Given the description of an element on the screen output the (x, y) to click on. 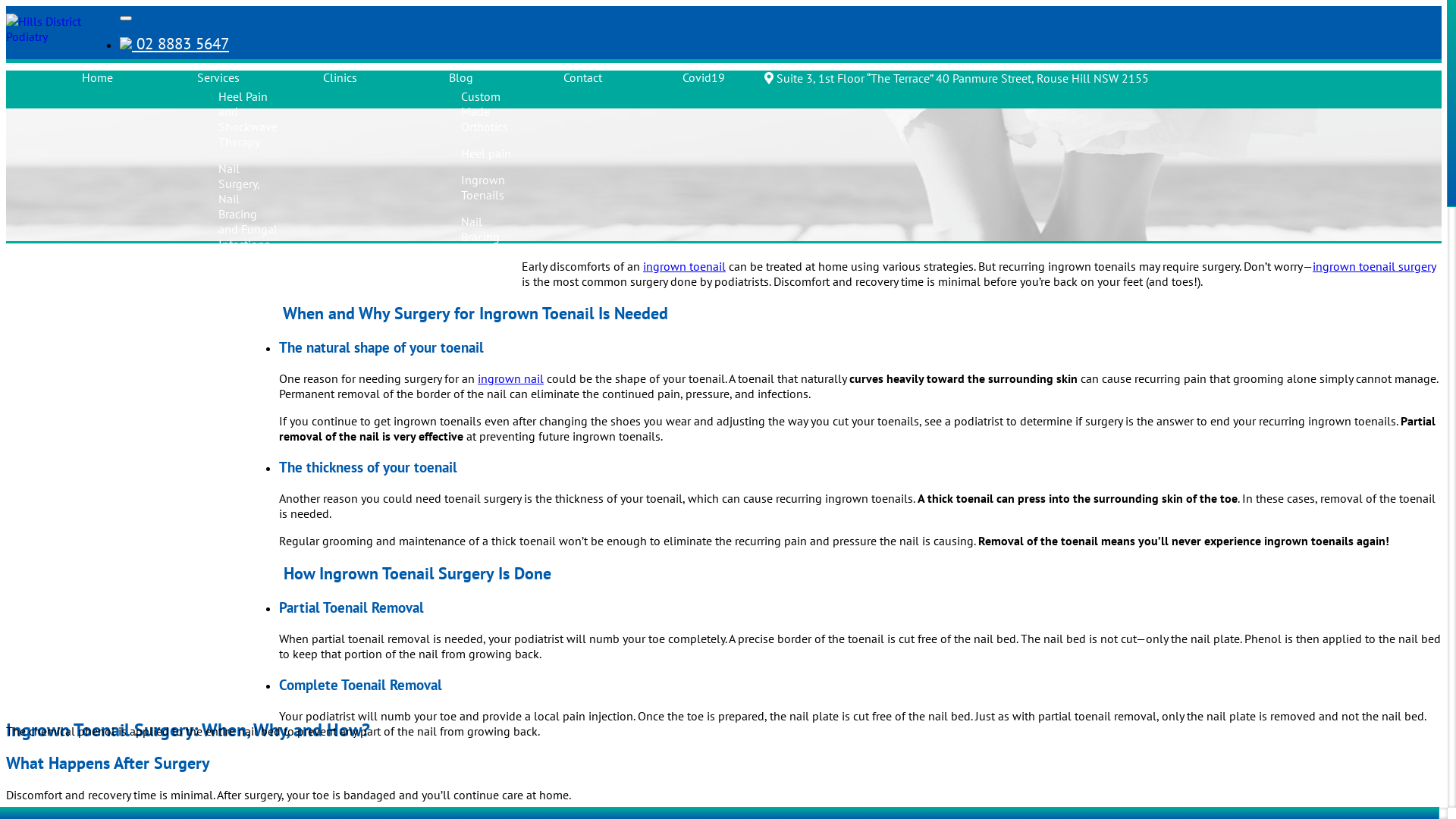
Custom Made Orthotics Element type: text (241, 429)
Home Element type: text (96, 76)
ingrown nail Element type: text (510, 377)
02 8883 5647 Element type: text (174, 43)
Heel pain Element type: text (486, 152)
Nail Surgery, Nail Bracing and Fungal Infections Element type: text (247, 205)
ingrown toenail surgery Element type: text (1373, 265)
Services Element type: text (218, 76)
Ingrown Toenails Element type: text (483, 187)
Pediatrics and Lower Limb Development Element type: text (253, 365)
Nail Bracing Element type: text (480, 228)
Plantar Wart Surgeries Element type: text (242, 672)
At Home Nail Cutting Element type: text (240, 615)
Biomechanics and Sporting Injuries Element type: text (253, 494)
ingrown toenail Element type: text (684, 265)
Clinics Element type: text (340, 76)
Heel Pain and Shockwave Therapy Element type: text (247, 118)
Shockwave Therapy Element type: text (490, 270)
Contact Element type: text (581, 76)
Custom Made Orthotics Element type: text (484, 111)
Toggle navigation Element type: text (125, 17)
Podiatrist Home Visits Element type: text (242, 558)
Diabetes and General Footcare Element type: text (240, 293)
Covid19 Element type: text (703, 76)
Blog Element type: text (460, 76)
